Given the description of an element on the screen output the (x, y) to click on. 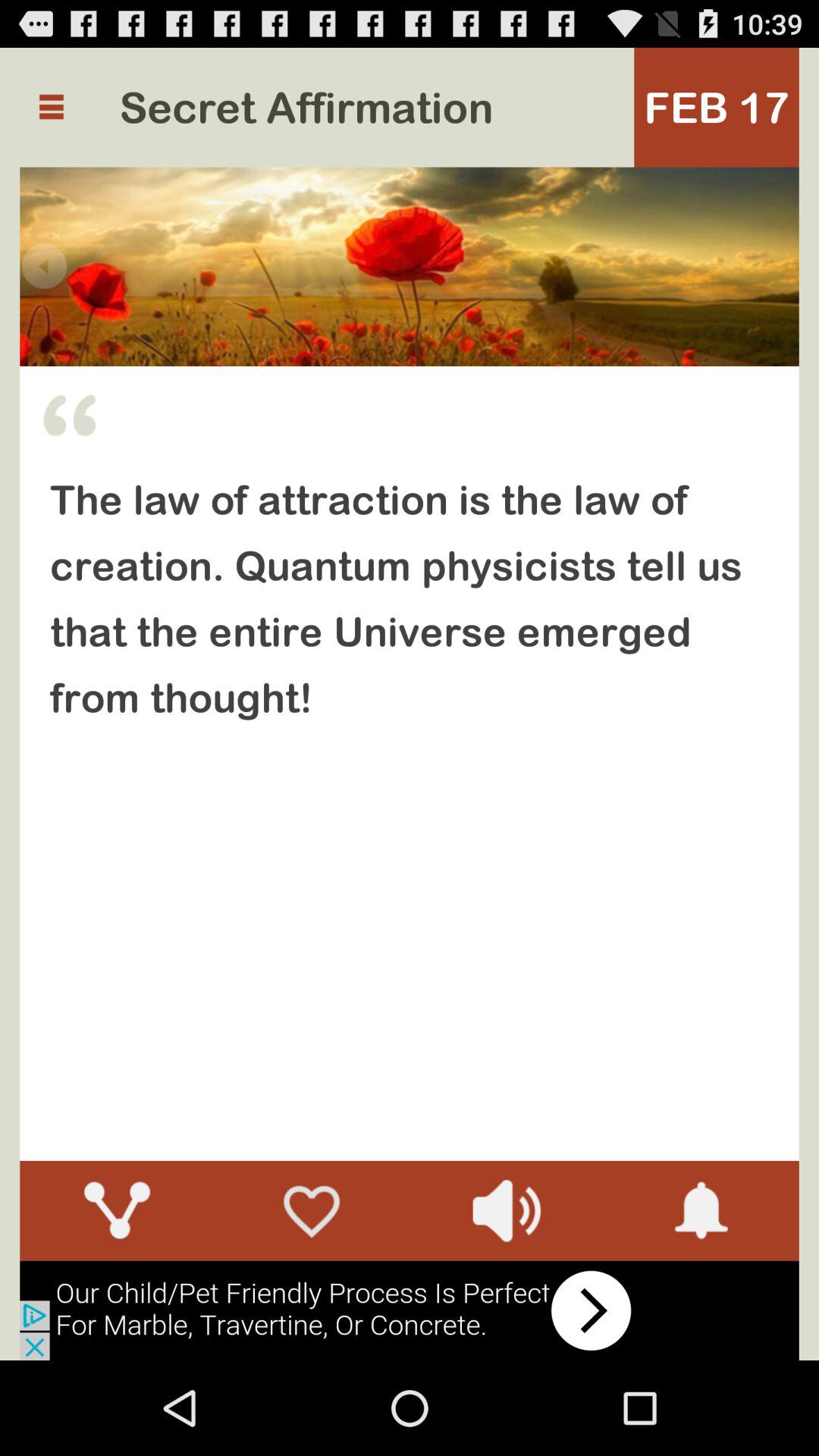
select the share button under the text (116, 1210)
